Given the description of an element on the screen output the (x, y) to click on. 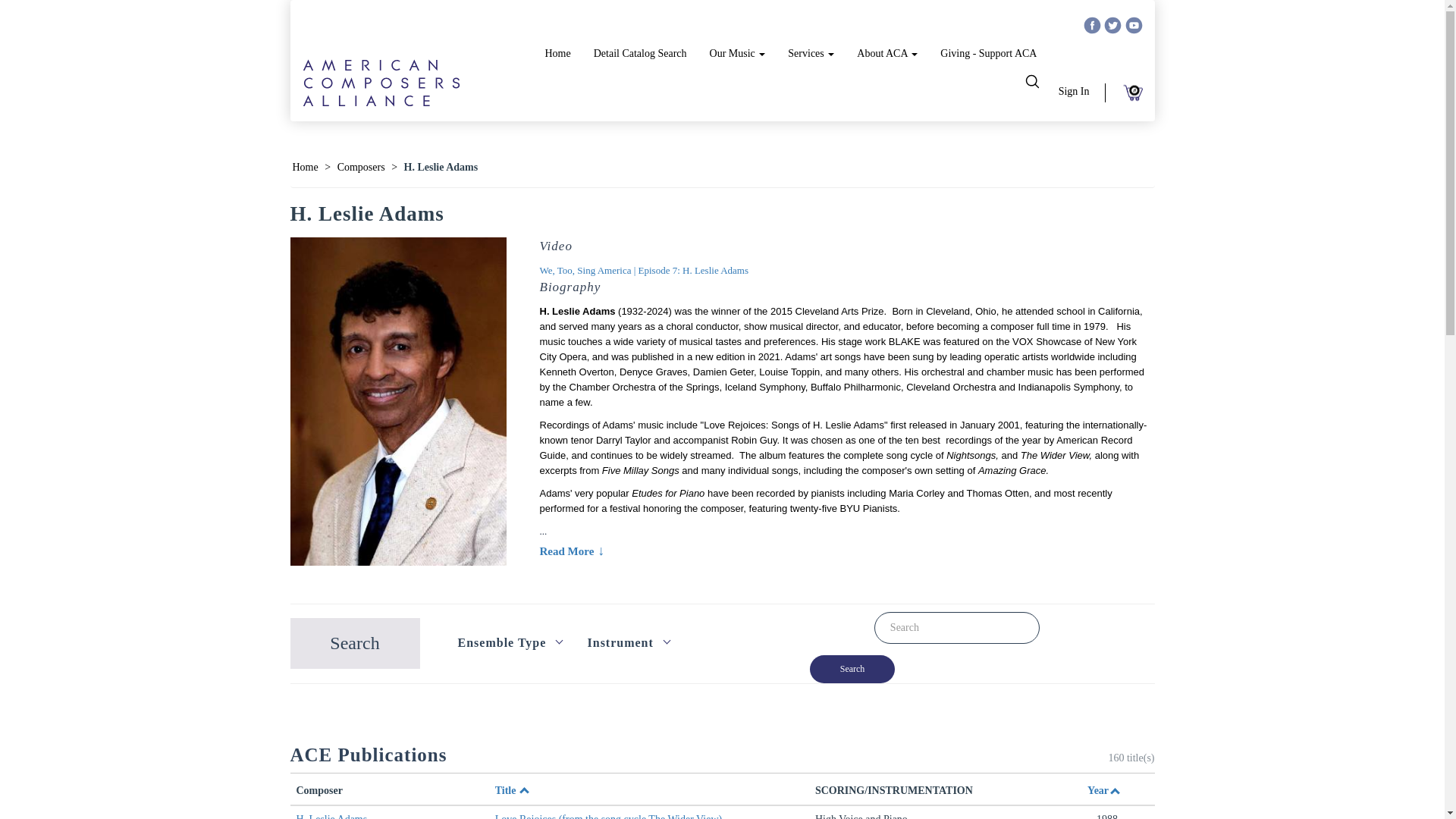
Read More (846, 550)
Giving - Support ACA (988, 53)
About ACA (886, 53)
sort by Title (505, 790)
Services (810, 53)
Our Music (737, 53)
Donation link (988, 53)
Detail Catalog Search (640, 53)
fb (1091, 25)
Home (556, 53)
Twitter (1112, 25)
Youtube (1133, 25)
Composers (361, 166)
Home (305, 166)
